Given the description of an element on the screen output the (x, y) to click on. 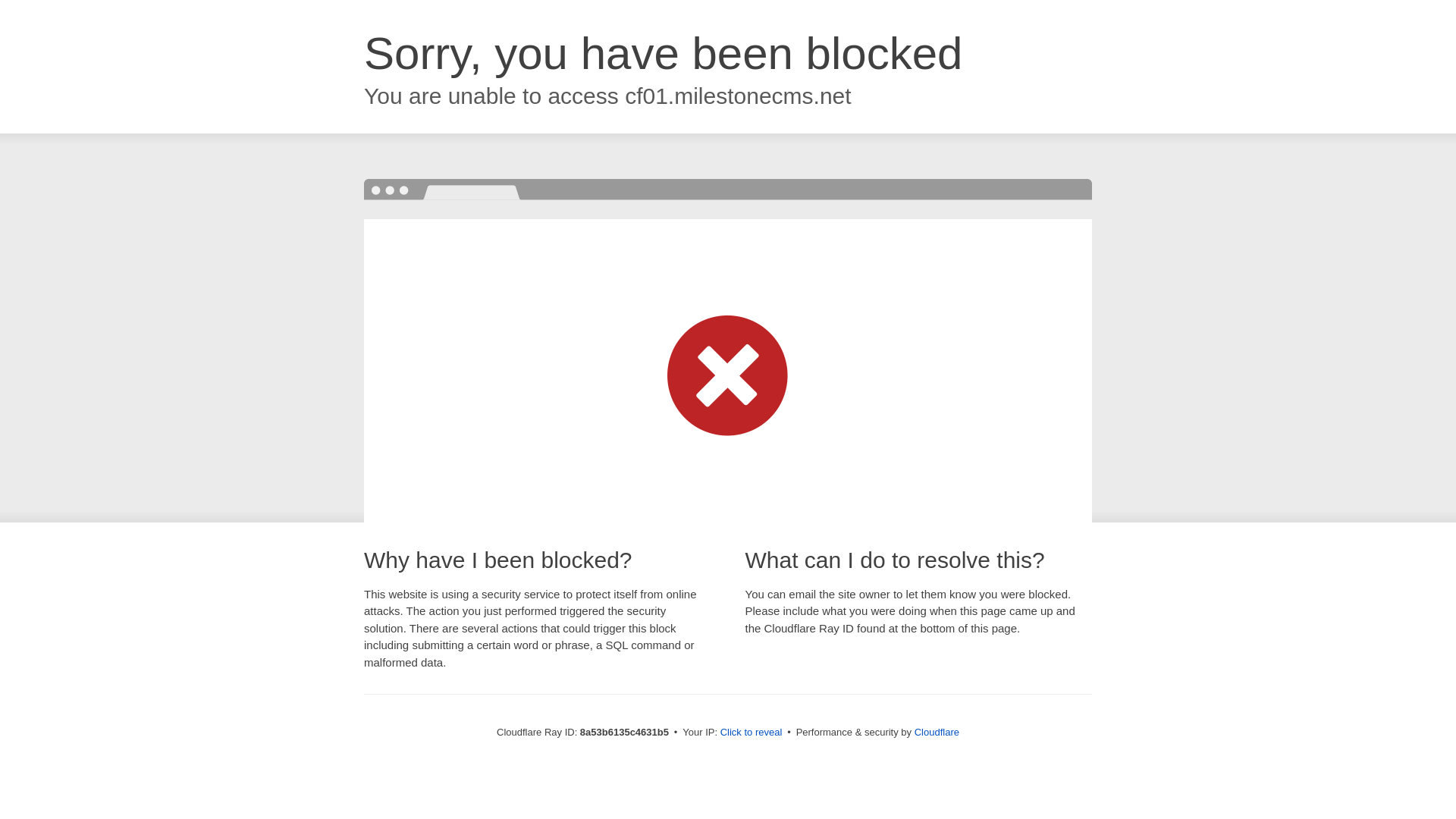
Click to reveal (751, 732)
Cloudflare (936, 731)
